Given the description of an element on the screen output the (x, y) to click on. 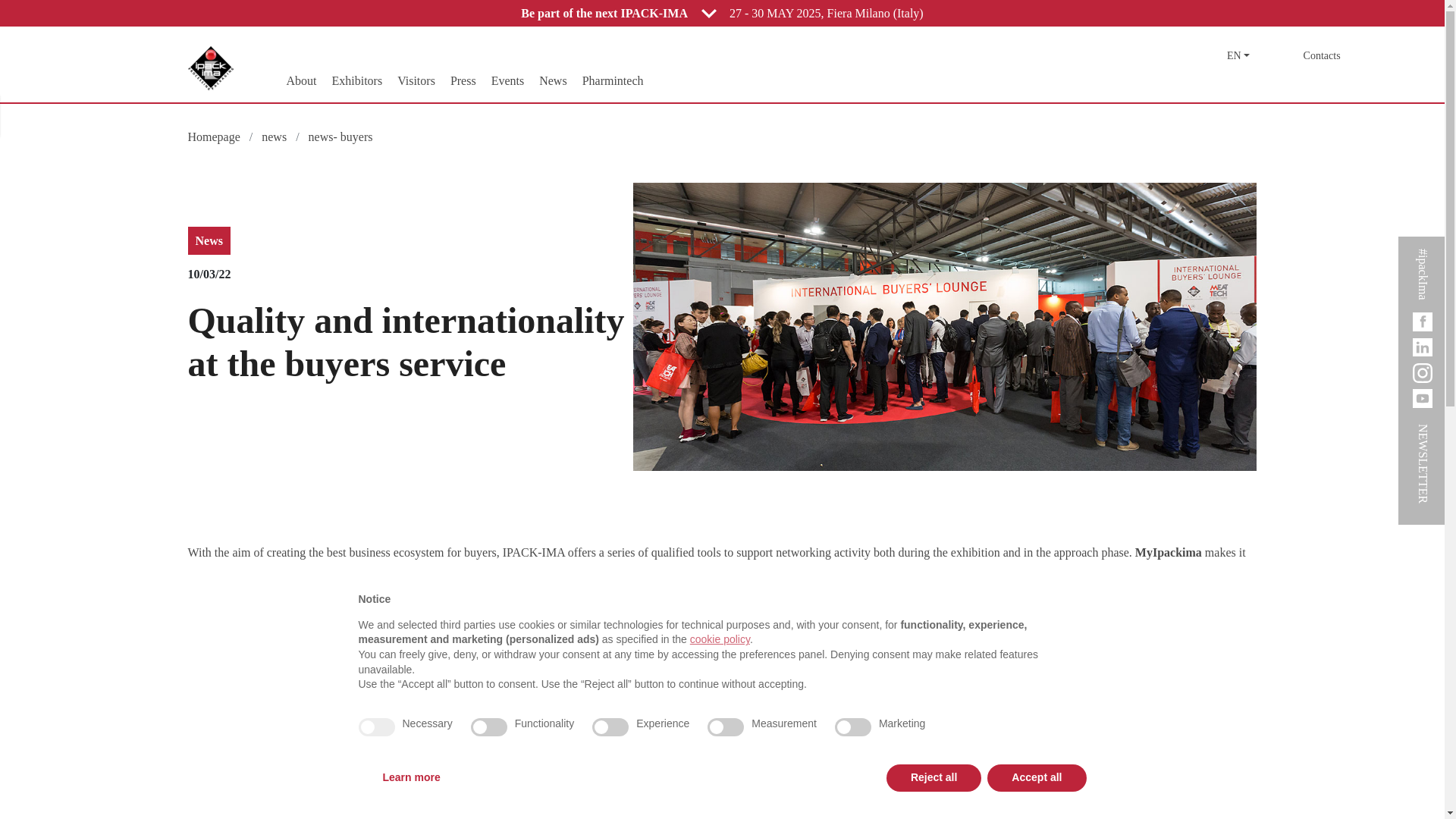
Visitors (416, 80)
News (552, 80)
About (300, 80)
Press (462, 80)
false (610, 727)
IPACK IMA home page (209, 66)
Visitatori (416, 80)
News (612, 80)
Eventi (507, 80)
false (488, 727)
false (725, 727)
true (376, 727)
About (300, 80)
Exhibitors (356, 80)
Press (462, 80)
